Given the description of an element on the screen output the (x, y) to click on. 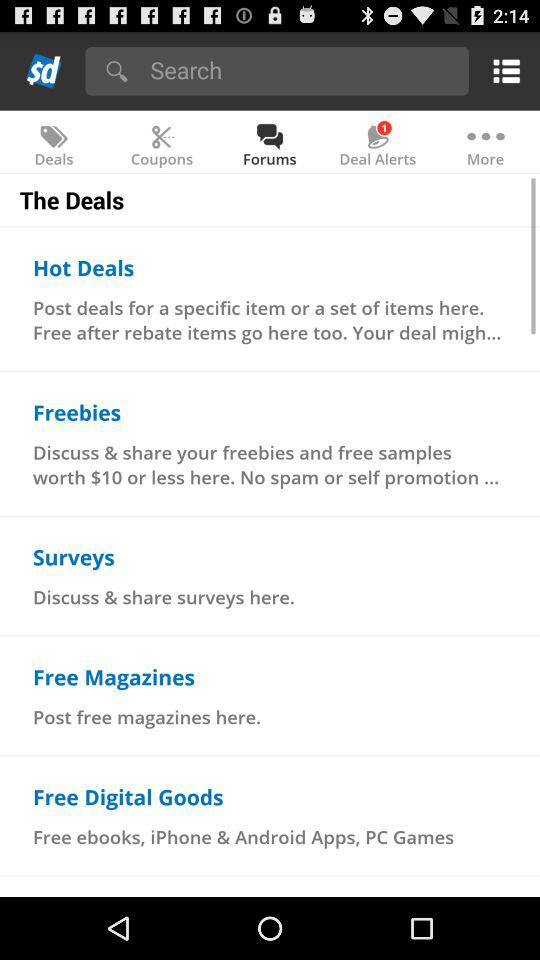
show menu (502, 70)
